Given the description of an element on the screen output the (x, y) to click on. 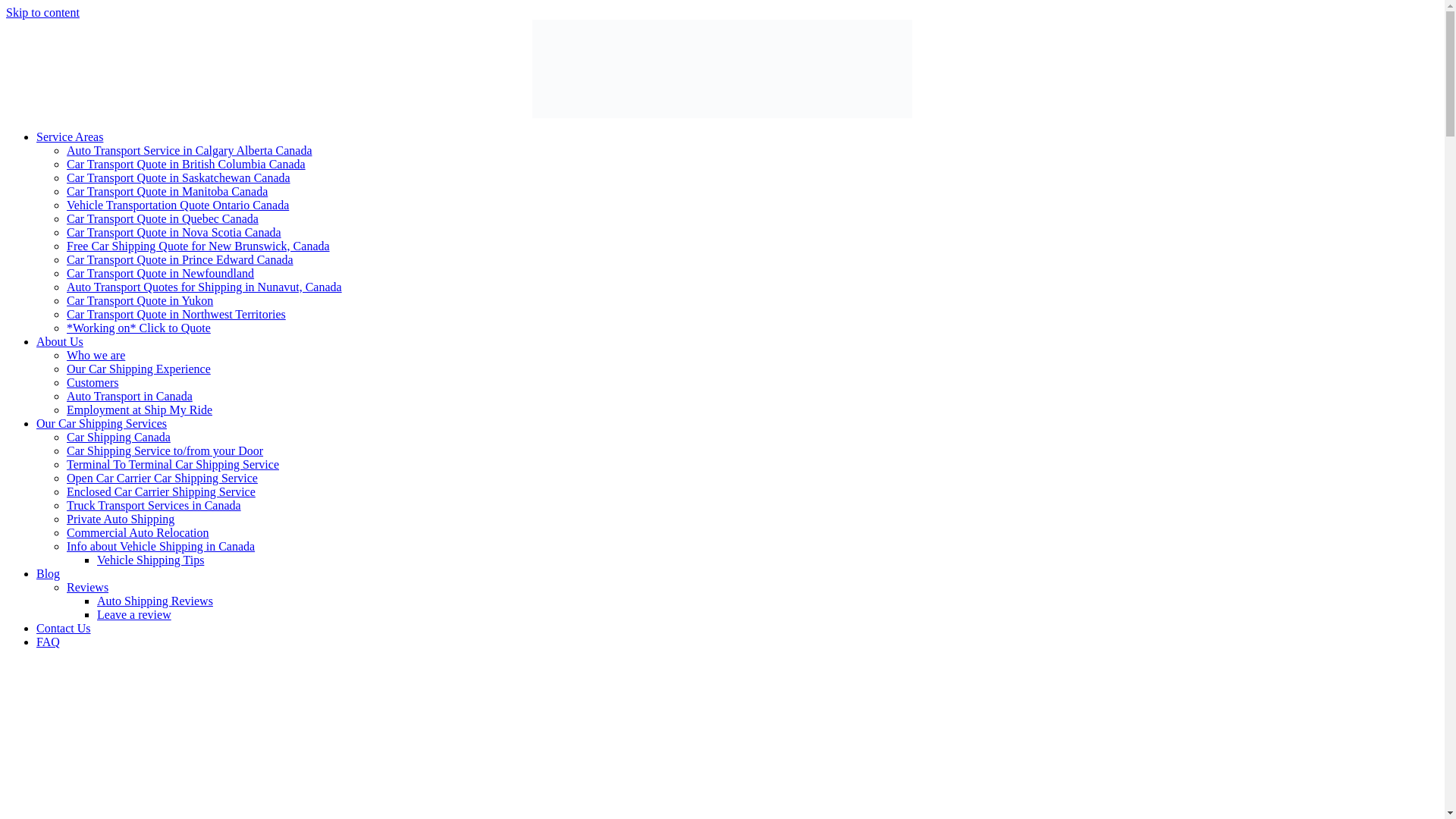
FAQ (47, 641)
Commercial Auto Relocation (137, 532)
Vehicle Transportation Quote Ontario Canada (177, 205)
Car Transport Quote in Yukon (139, 300)
Who we are (95, 354)
Our Car Shipping Services (101, 422)
Service Areas (69, 136)
Skip to content (42, 11)
Car Transport Quote in Quebec Canada (162, 218)
Leave a review (134, 614)
